Given the description of an element on the screen output the (x, y) to click on. 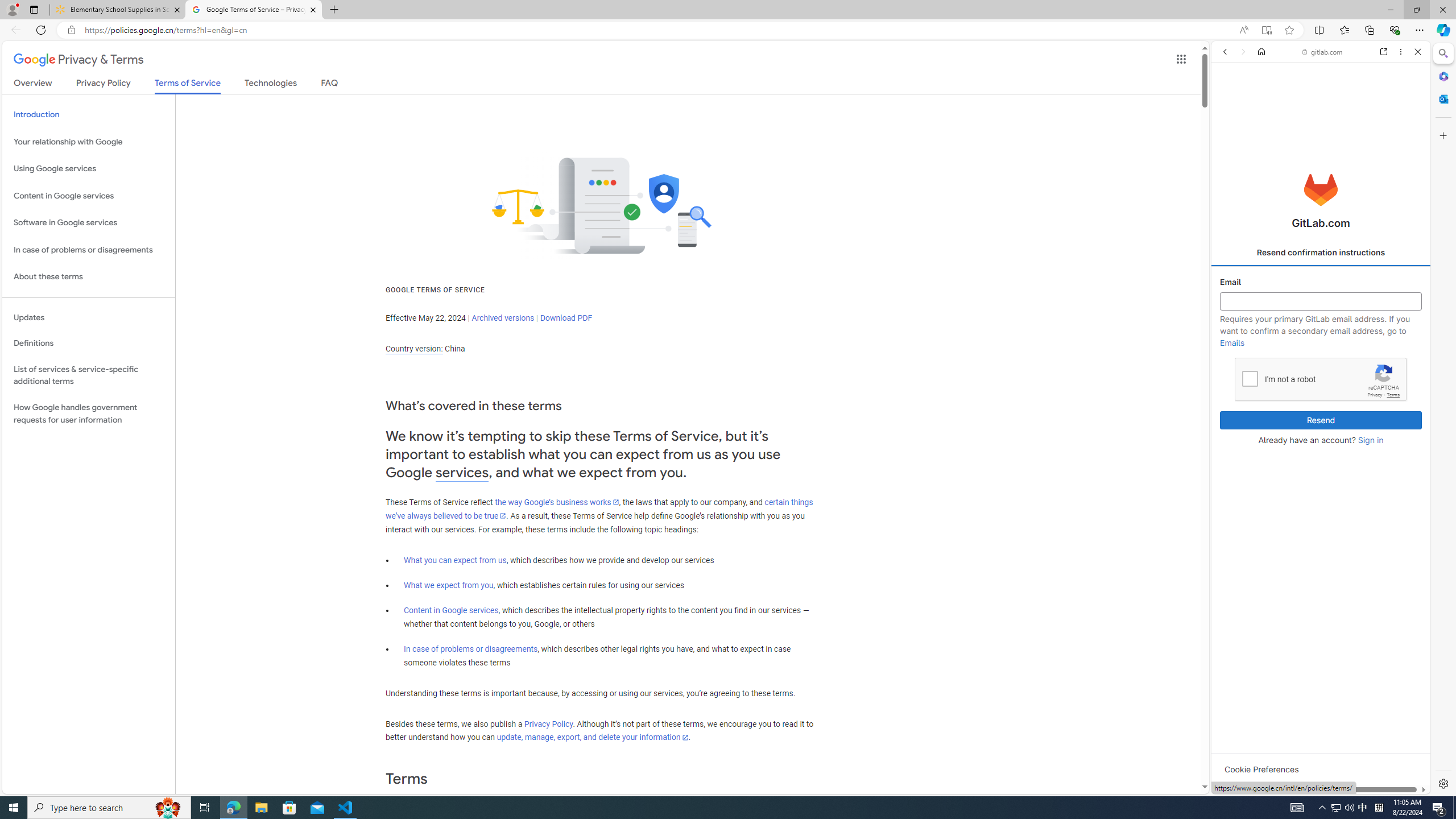
Content in Google services (451, 610)
Using Google services (88, 168)
View details (1379, 555)
